Given the description of an element on the screen output the (x, y) to click on. 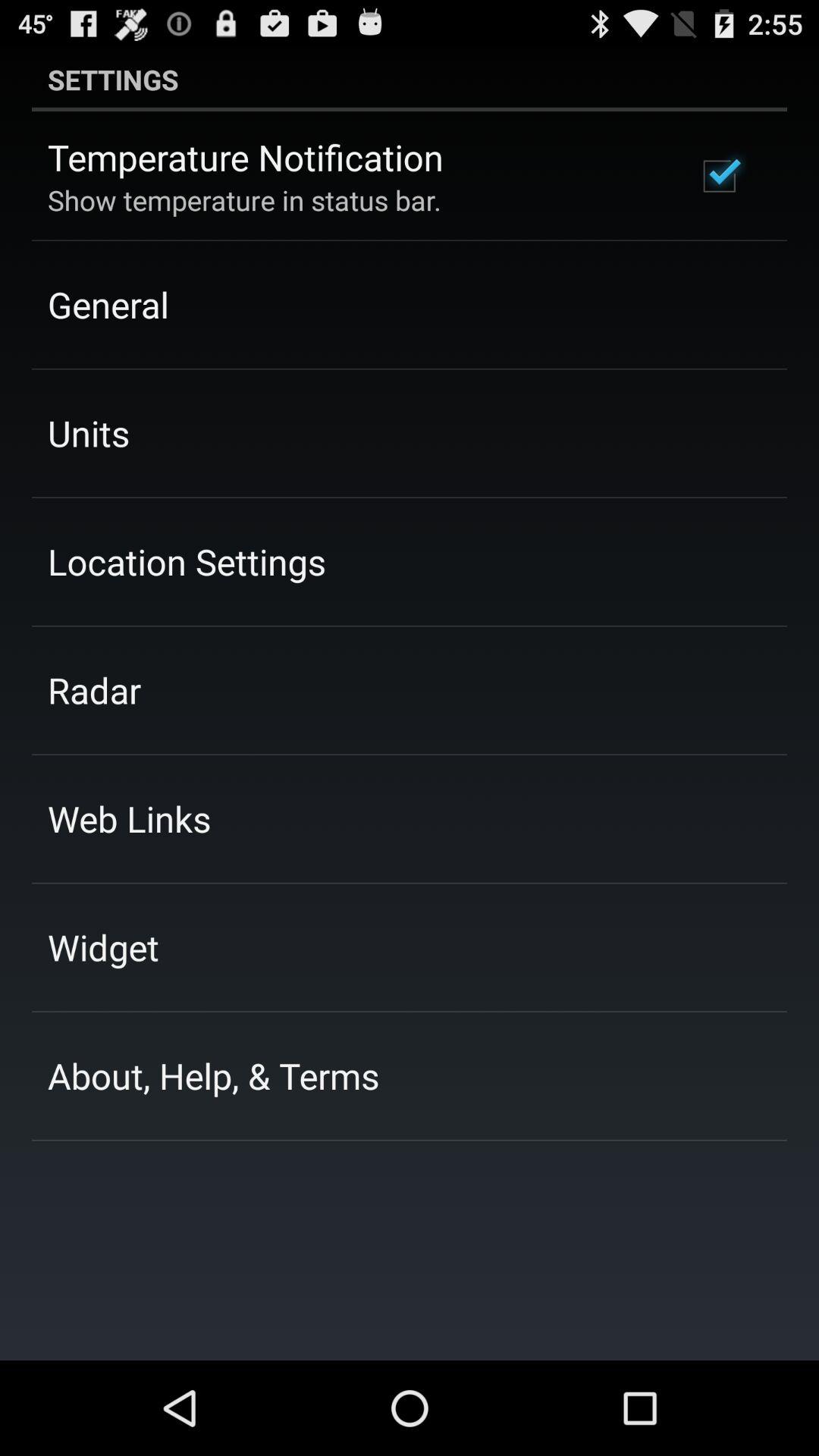
turn off the app above the location settings (88, 432)
